Given the description of an element on the screen output the (x, y) to click on. 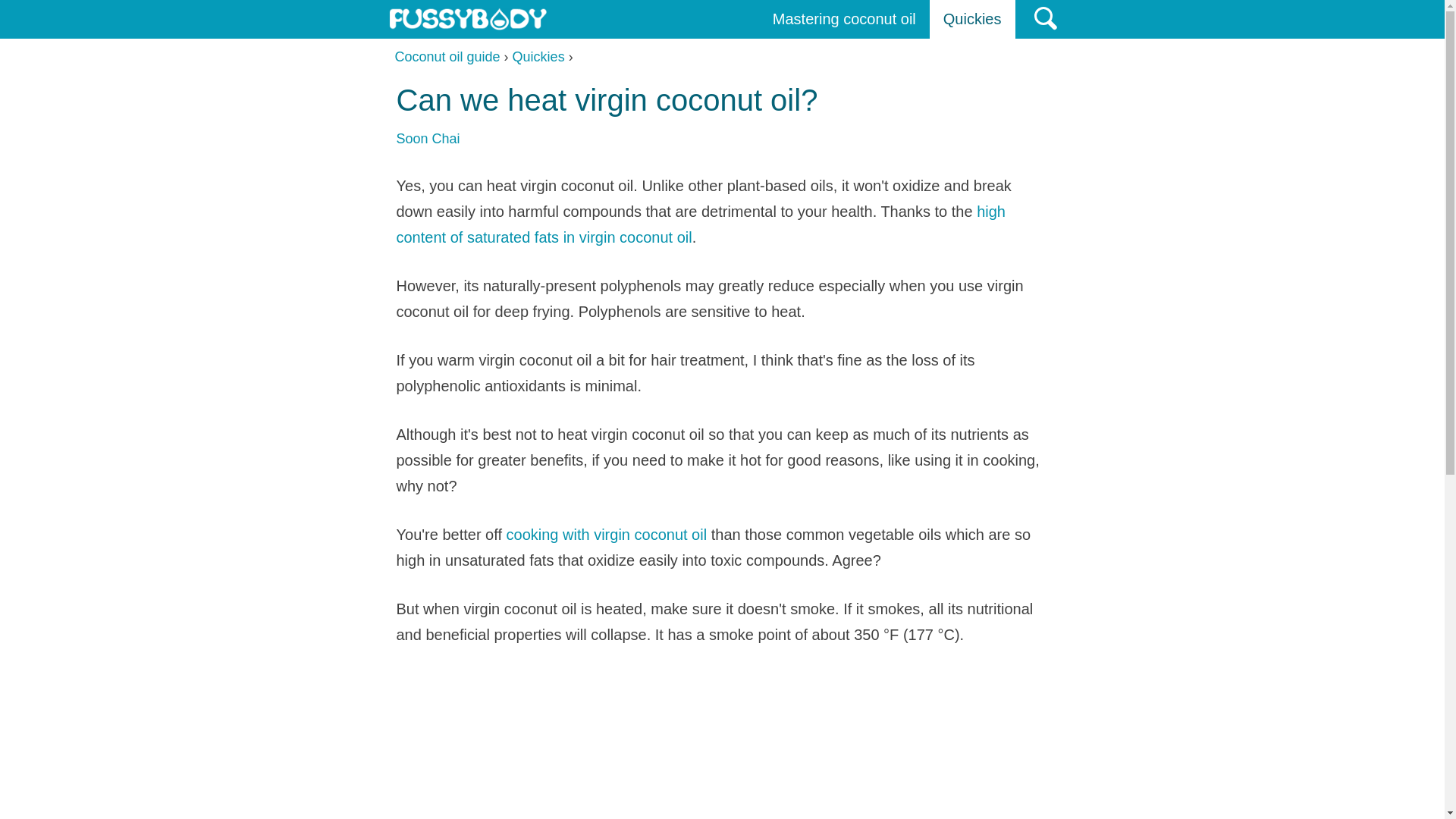
Quickies (538, 56)
cooking with virgin coconut oil (606, 534)
high content of saturated fats in virgin coconut oil (700, 224)
Advertisement (722, 744)
FussyBody.com (467, 18)
FussyBody.com (467, 18)
Coconut oil guide (446, 56)
Quickies (972, 19)
Soon Chai (428, 138)
Mastering coconut oil (844, 19)
